Given the description of an element on the screen output the (x, y) to click on. 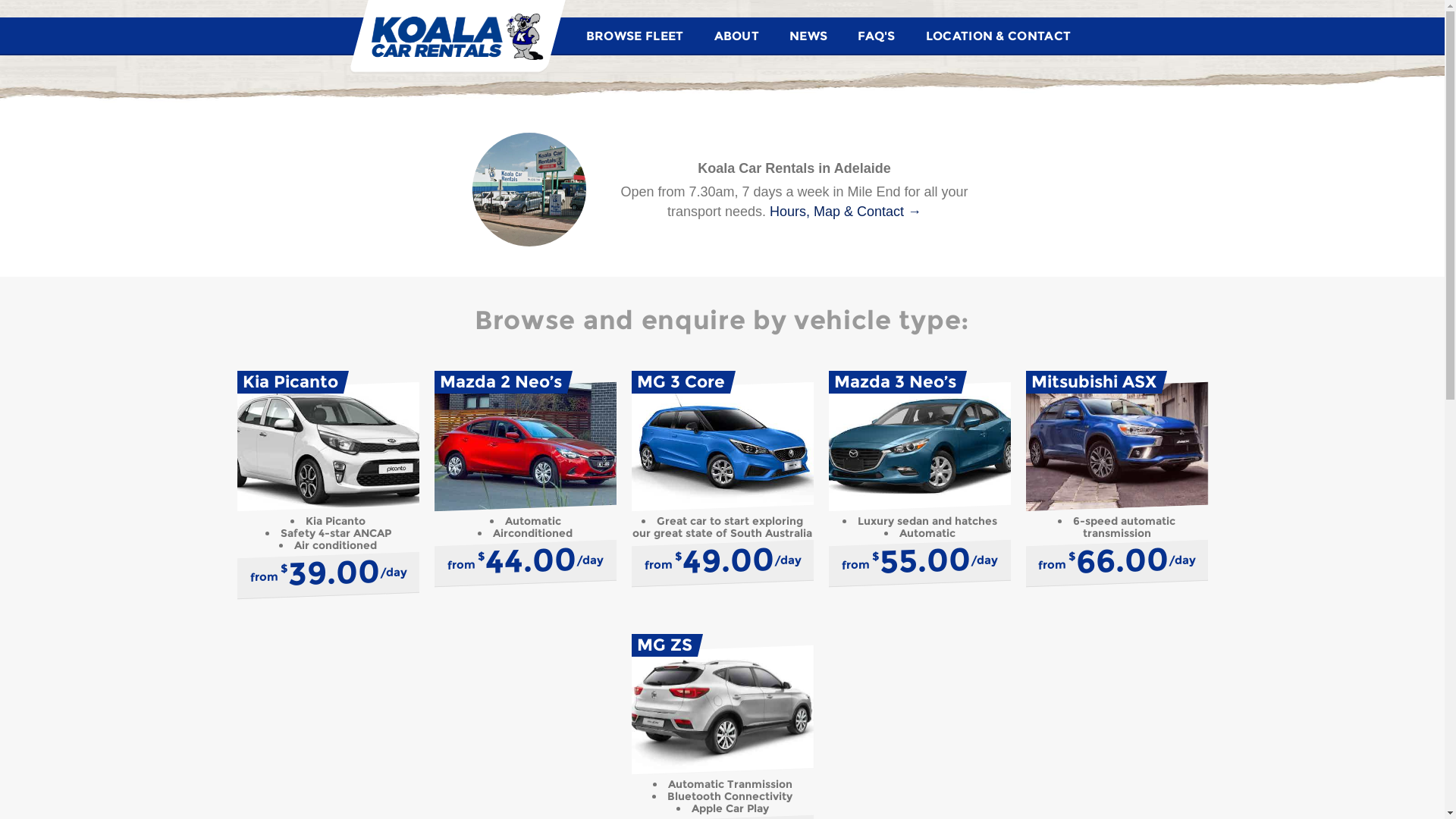
LOCATION & CONTACT Element type: text (997, 35)
FAQ'S Element type: text (876, 35)
ABOUT Element type: text (736, 35)
Mitsubishi ASX
6-speed automatic transmission
from66.00day Element type: text (1116, 480)
NEWS Element type: text (808, 35)
BROWSE FLEET Element type: text (635, 35)
